Given the description of an element on the screen output the (x, y) to click on. 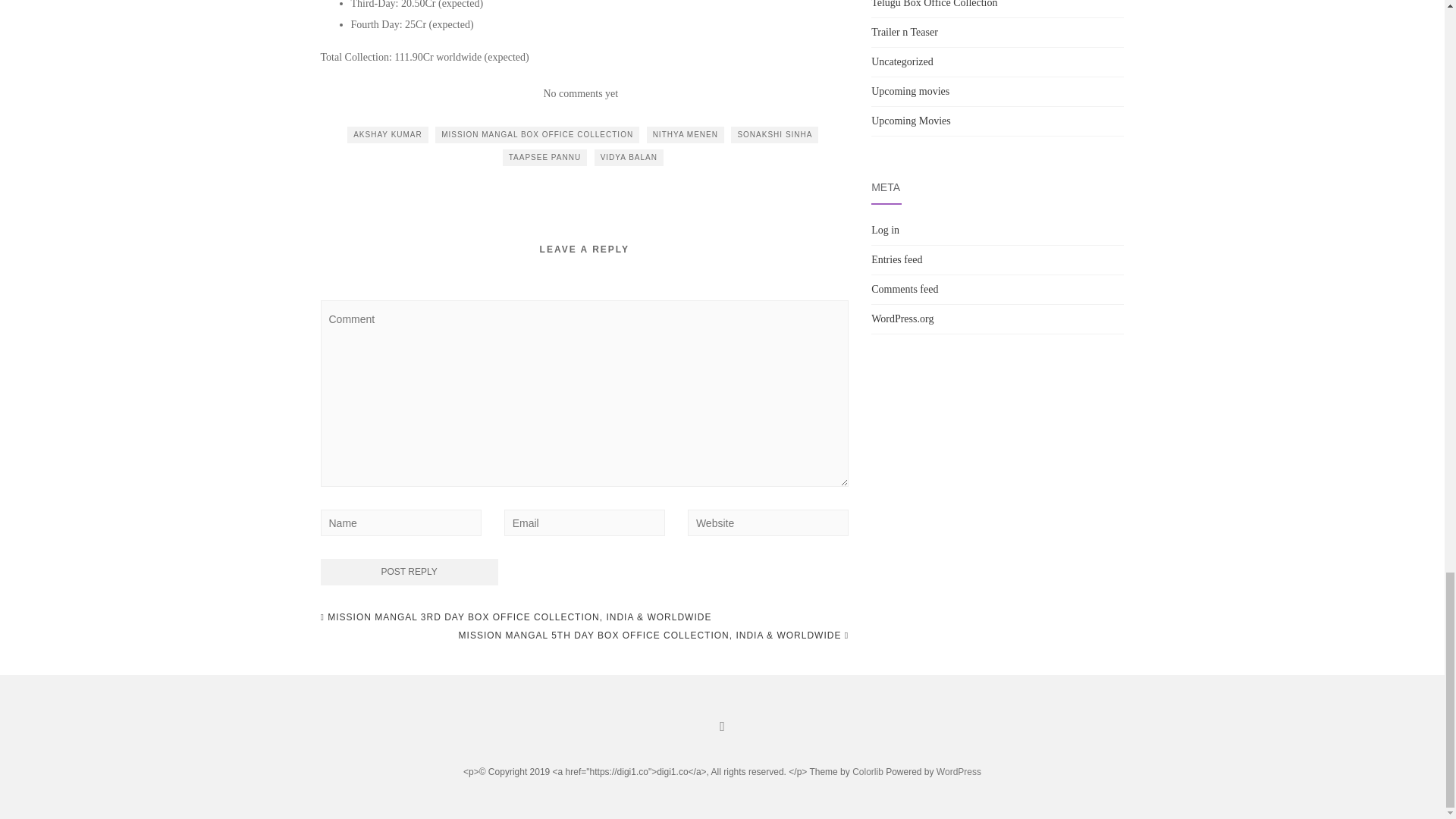
MISSION MANGAL BOX OFFICE COLLECTION (537, 134)
SONAKSHI SINHA (774, 134)
AKSHAY KUMAR (387, 134)
TAAPSEE PANNU (544, 157)
Post Reply (408, 571)
VIDYA BALAN (628, 157)
Post Reply (408, 571)
No comments yet (580, 93)
NITHYA MENEN (684, 134)
